Given the description of an element on the screen output the (x, y) to click on. 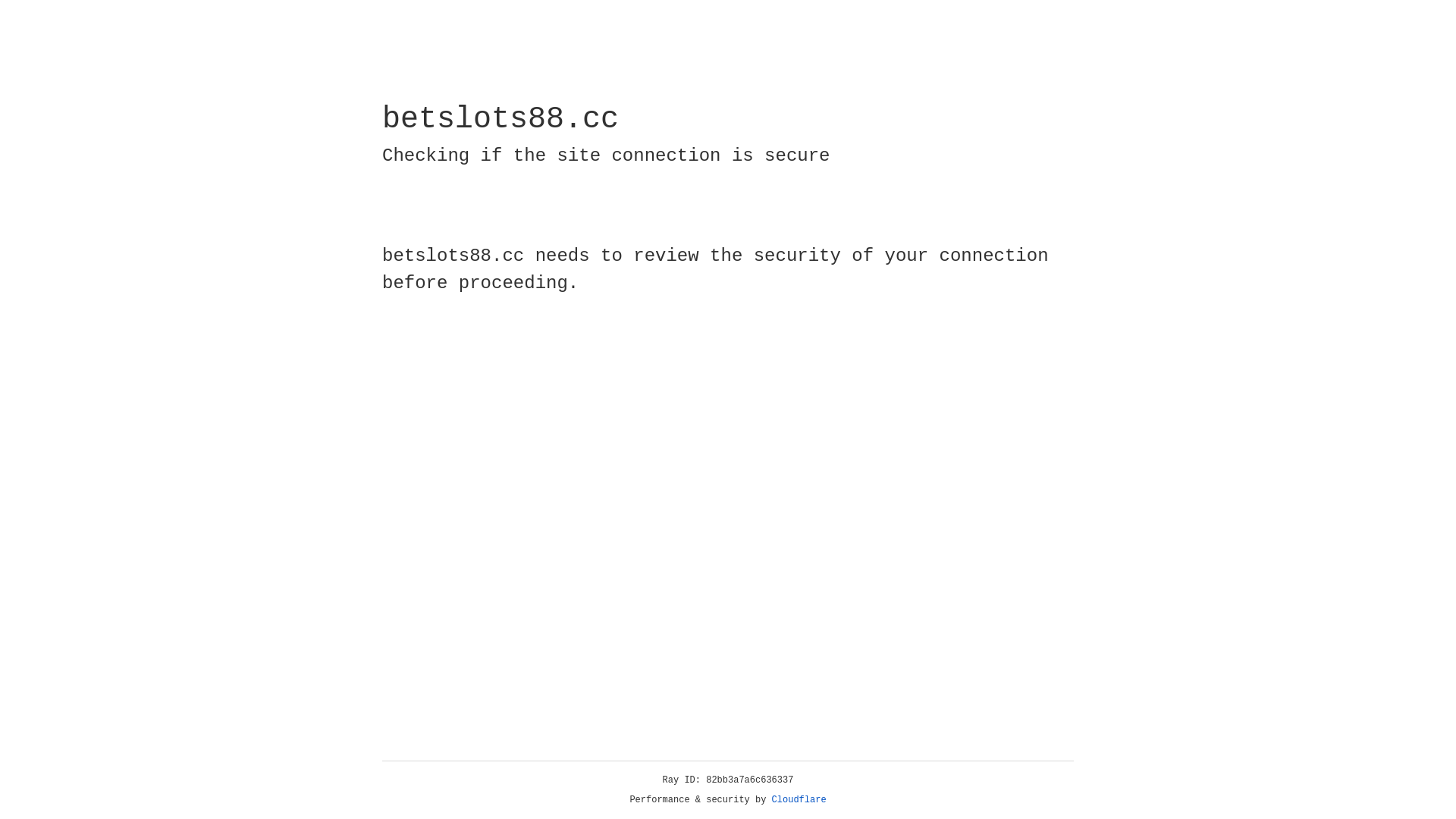
Cloudflare Element type: text (798, 799)
